Given the description of an element on the screen output the (x, y) to click on. 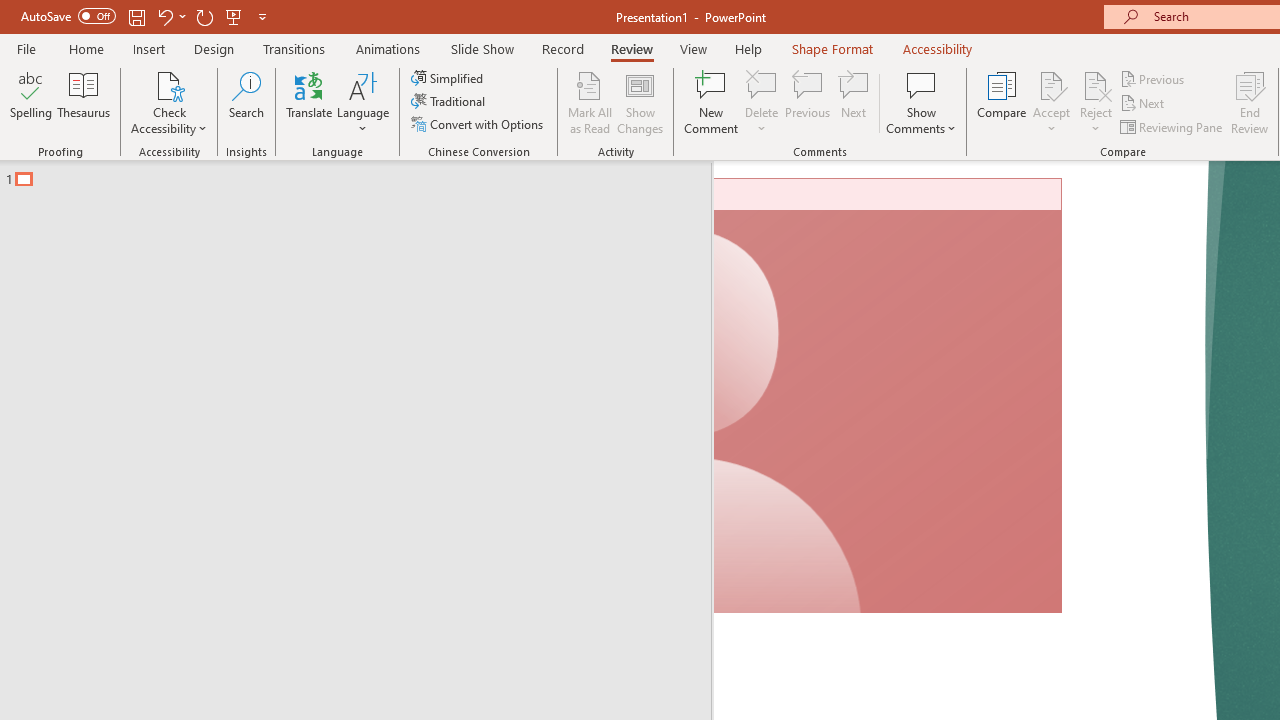
Transitions (294, 48)
Animations (388, 48)
Undo (164, 15)
View (693, 48)
Undo (170, 15)
Outline (364, 174)
Previous (1153, 78)
Design (214, 48)
Convert with Options... (479, 124)
Check Accessibility (169, 84)
Traditional (449, 101)
Reviewing Pane (1172, 126)
Accessibility (937, 48)
Show Comments (921, 84)
